Given the description of an element on the screen output the (x, y) to click on. 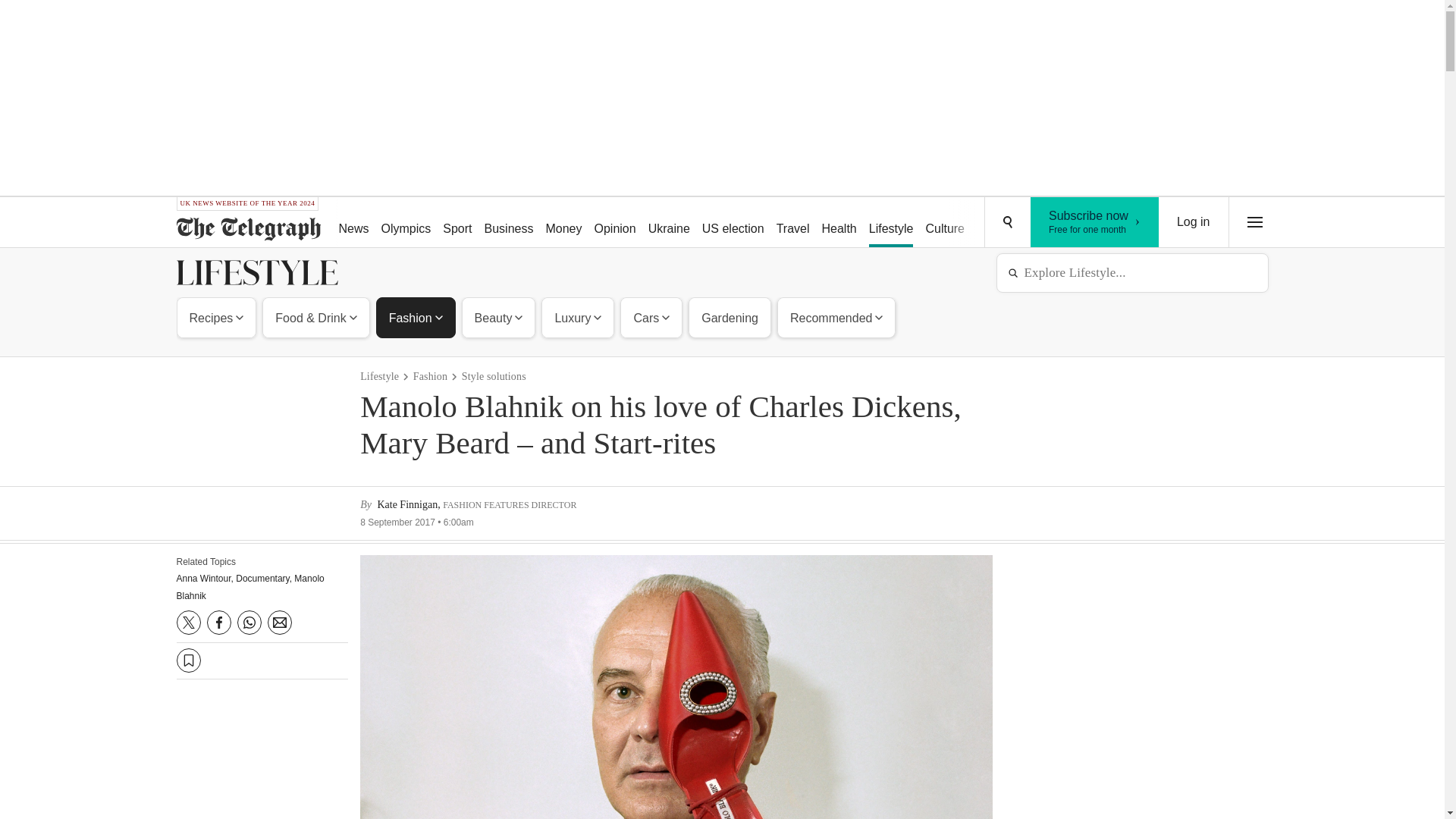
Opinion (1094, 222)
Business (615, 223)
Travel (509, 223)
Podcasts (792, 223)
Health (1056, 223)
Olympics (838, 223)
Culture (406, 223)
Ukraine (944, 223)
Lifestyle (668, 223)
Log in (891, 223)
Recipes (1193, 222)
Money (216, 317)
US election (563, 223)
Puzzles (732, 223)
